Given the description of an element on the screen output the (x, y) to click on. 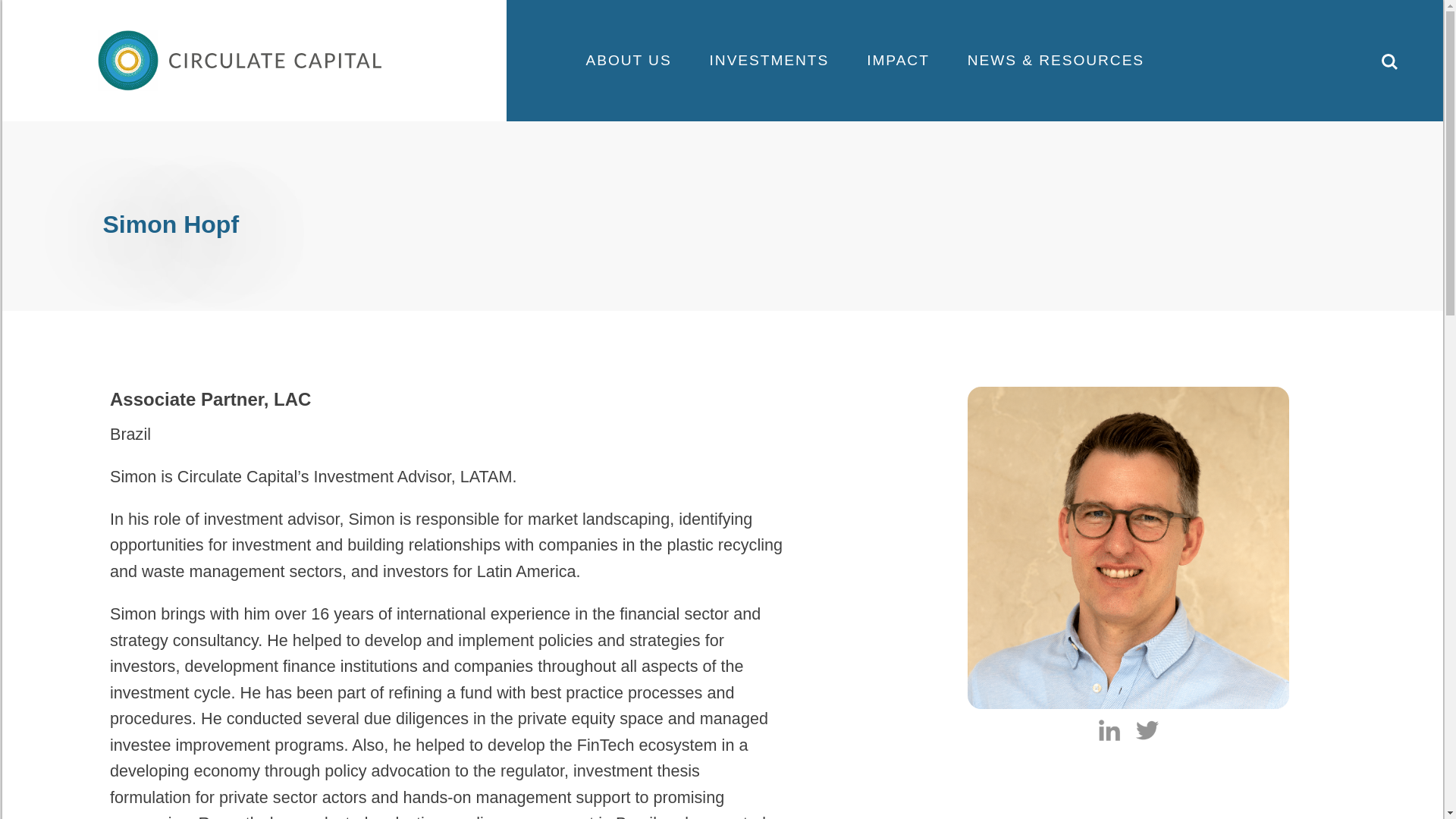
ABOUT US (628, 60)
IMPACT (898, 60)
INVESTMENTS (769, 60)
